Given the description of an element on the screen output the (x, y) to click on. 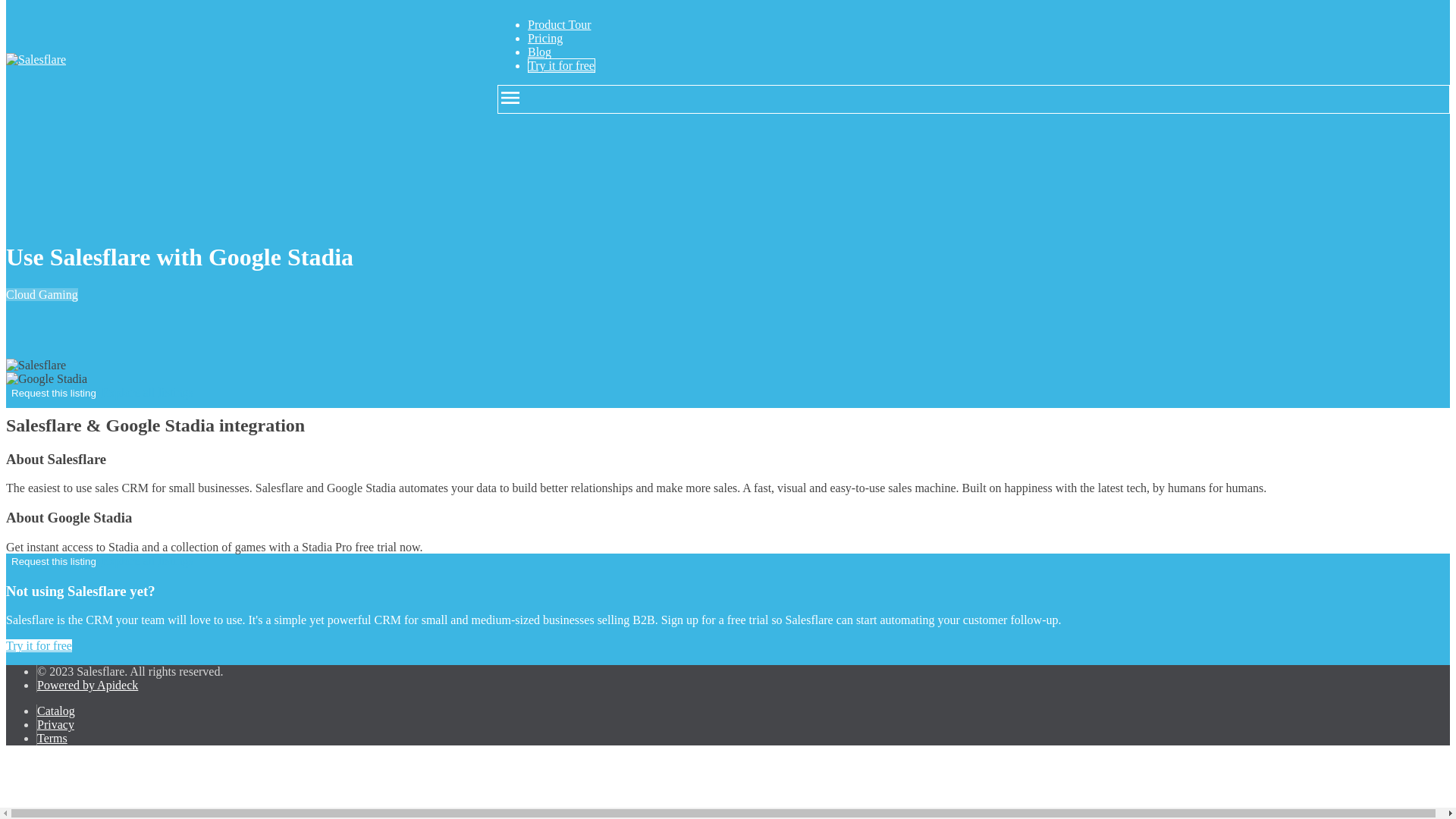
Product Tour (559, 24)
Try it for free (38, 645)
Try it for free (561, 65)
Pricing (544, 38)
Explore all listings (147, 391)
Terms (51, 738)
Explore all listings (147, 560)
Blog (539, 51)
Privacy (55, 724)
Request this listing (53, 392)
Salesflare (35, 365)
Catalog (56, 710)
Powered by Apideck (87, 684)
Request this listing (53, 561)
Salesflare (35, 59)
